Given the description of an element on the screen output the (x, y) to click on. 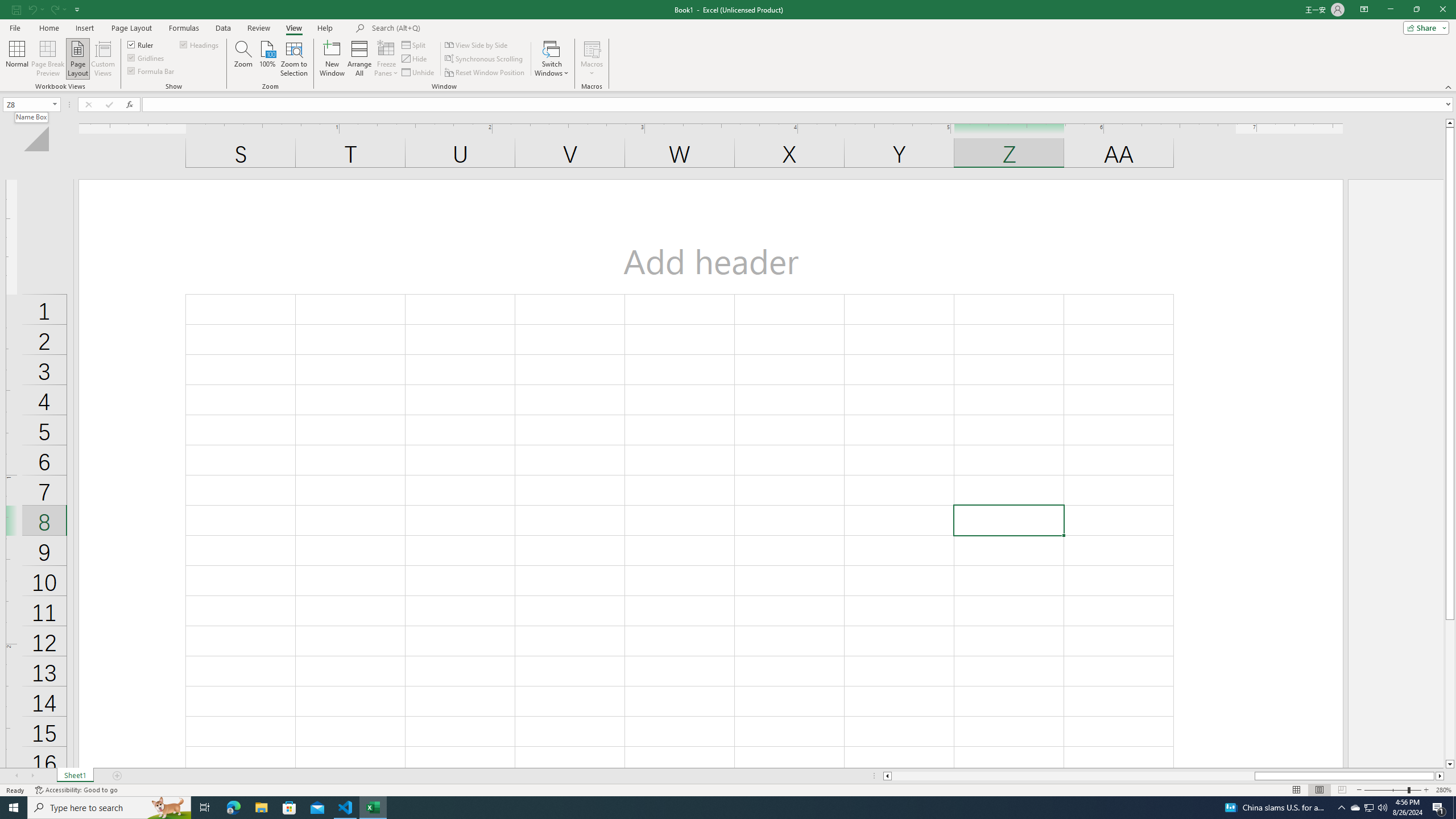
Unhide... (419, 72)
